Given the description of an element on the screen output the (x, y) to click on. 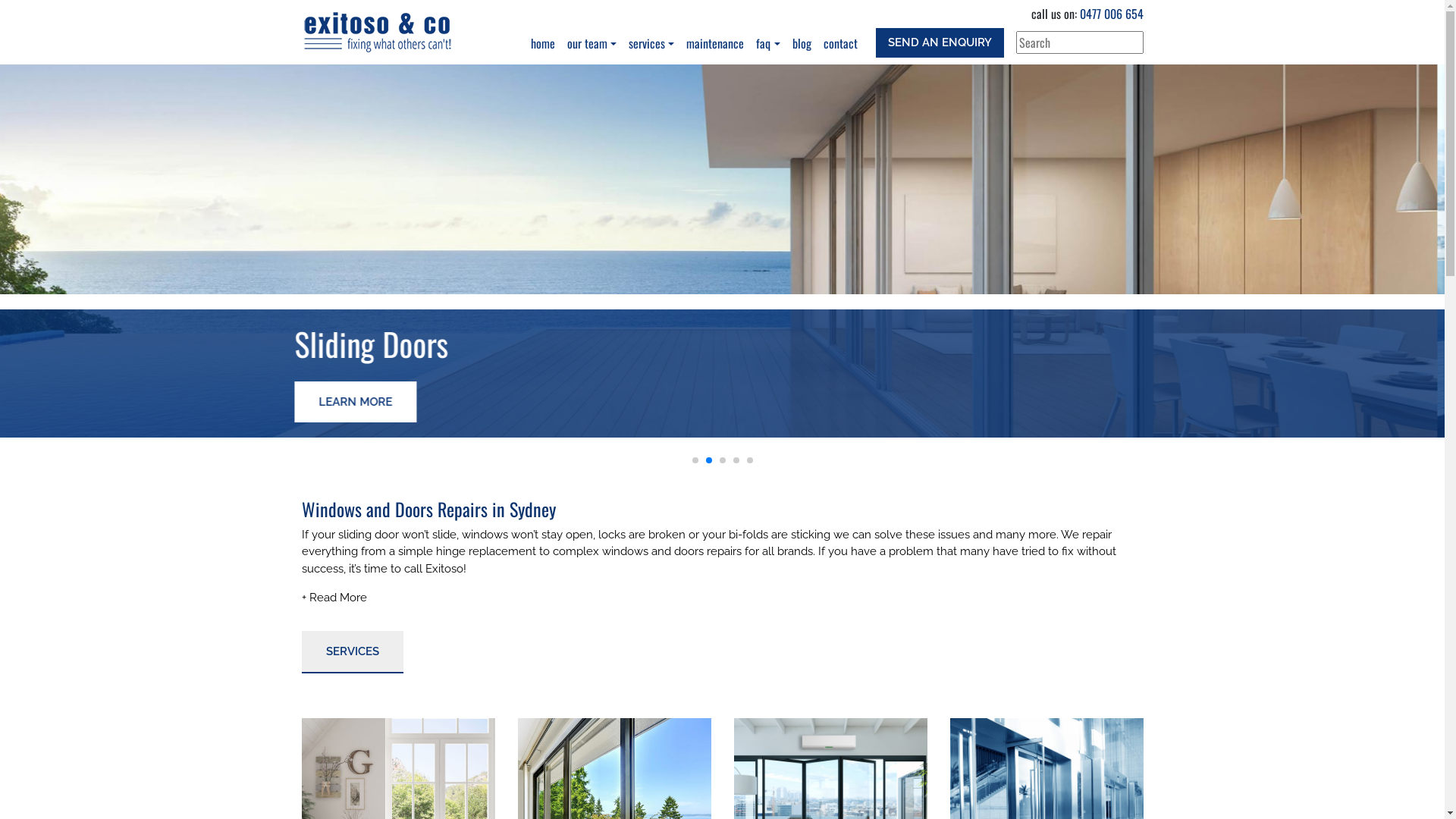
0477 006 654 Element type: text (1111, 13)
services Element type: text (651, 43)
contact Element type: text (840, 43)
maintenance Element type: text (714, 43)
home Element type: text (542, 43)
blog Element type: text (800, 43)
LEARN MORE Element type: text (362, 401)
SEND AN ENQUIRY Element type: text (939, 42)
our team Element type: text (591, 43)
Enter the terms you wish to search for. Element type: hover (1079, 42)
faq Element type: text (767, 43)
SERVICES Element type: text (352, 652)
